Given the description of an element on the screen output the (x, y) to click on. 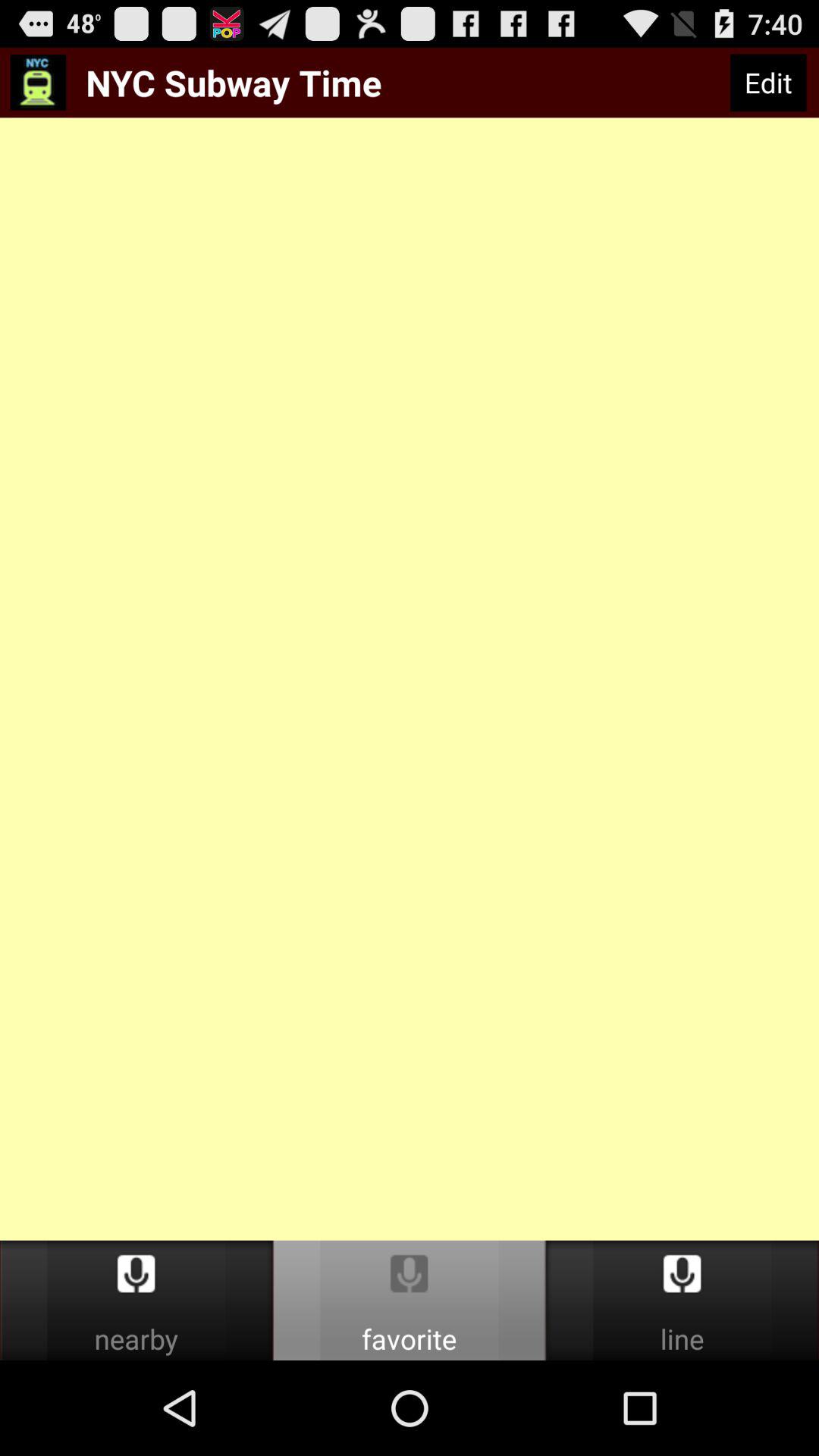
press the item next to the nyc subway time app (768, 82)
